Given the description of an element on the screen output the (x, y) to click on. 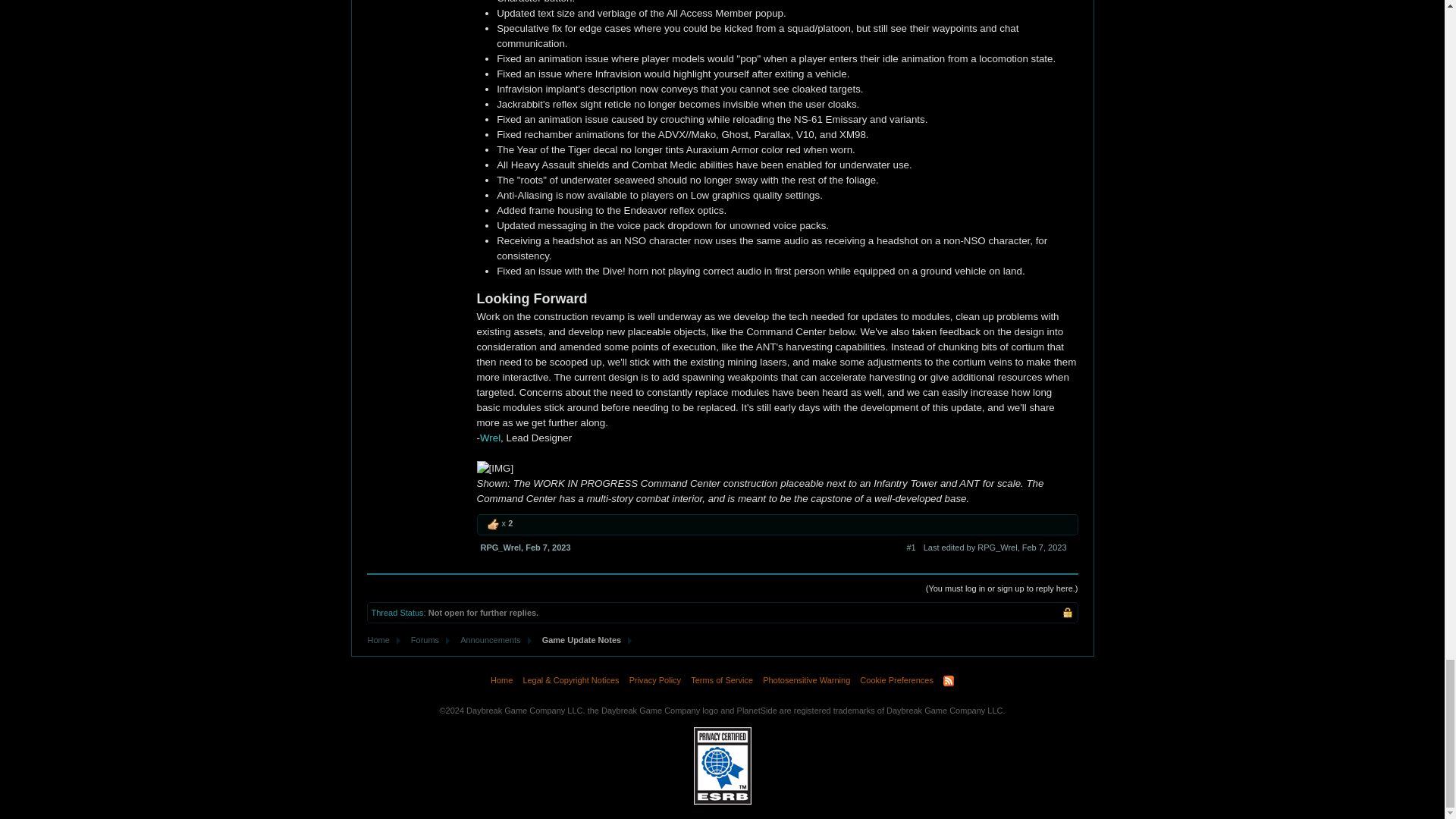
Feb 7, 2023 (547, 547)
Up (492, 524)
Terms of Service (722, 680)
Forums (421, 639)
Home (501, 680)
RSS feed for PlanetSide 2 Forums (948, 680)
Feb 7, 2023 at 4:09 PM (1044, 547)
Announcements (487, 639)
Permalink (547, 547)
Permalink (911, 547)
Game Update Notes (578, 639)
Privacy Policy (655, 680)
Home (377, 639)
